Given the description of an element on the screen output the (x, y) to click on. 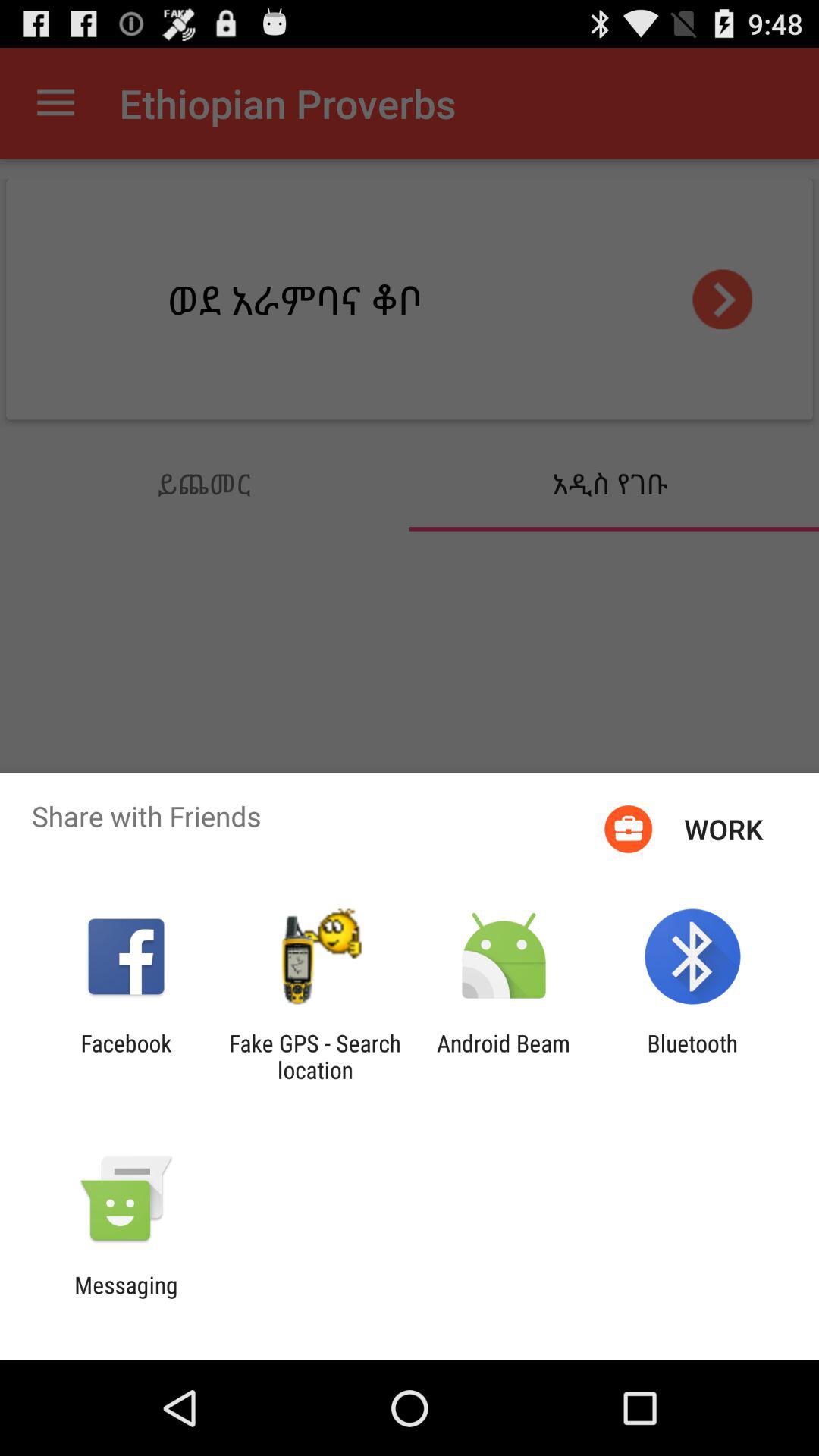
flip to the fake gps search app (314, 1056)
